Given the description of an element on the screen output the (x, y) to click on. 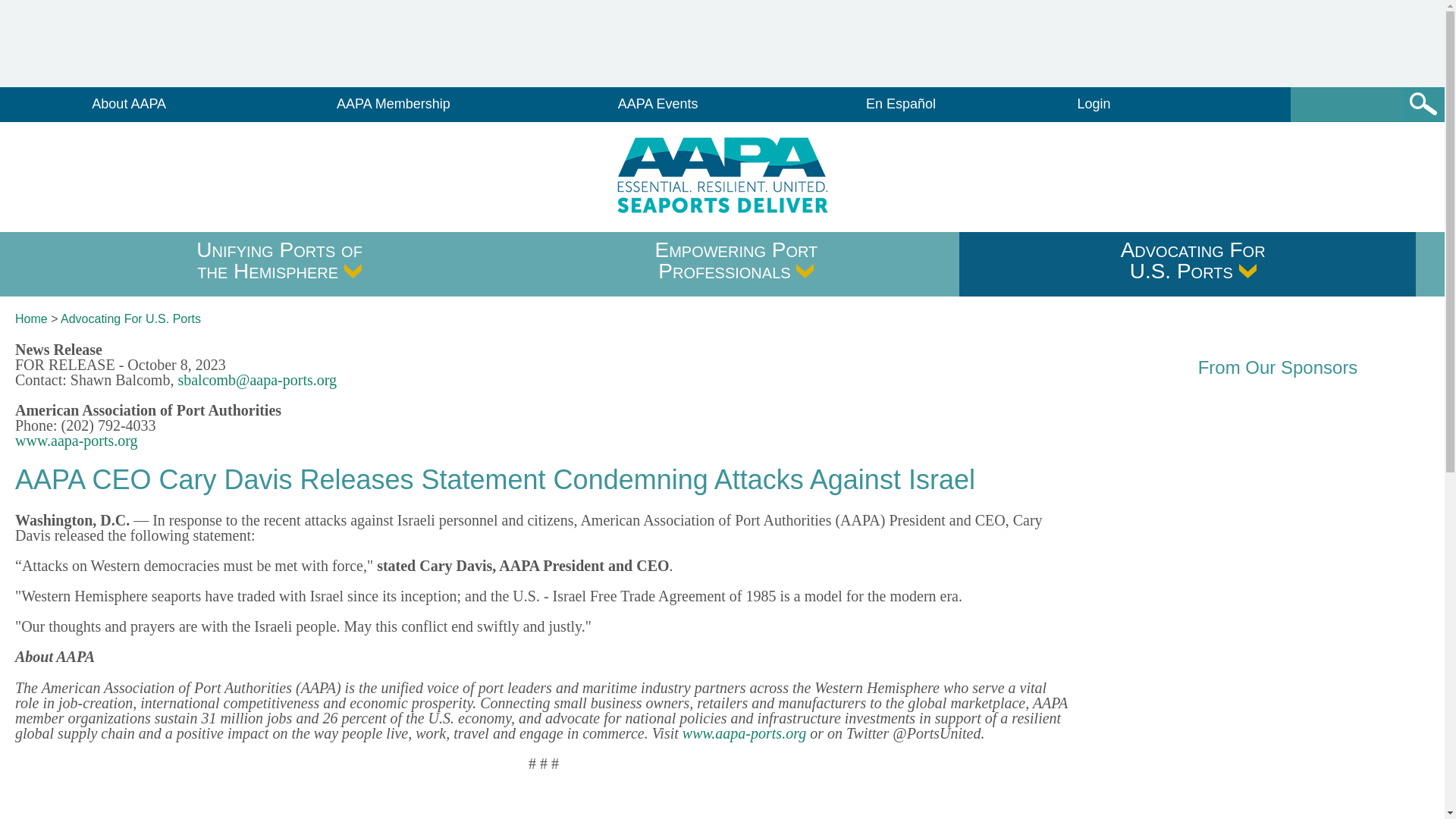
submit (1423, 104)
